Given the description of an element on the screen output the (x, y) to click on. 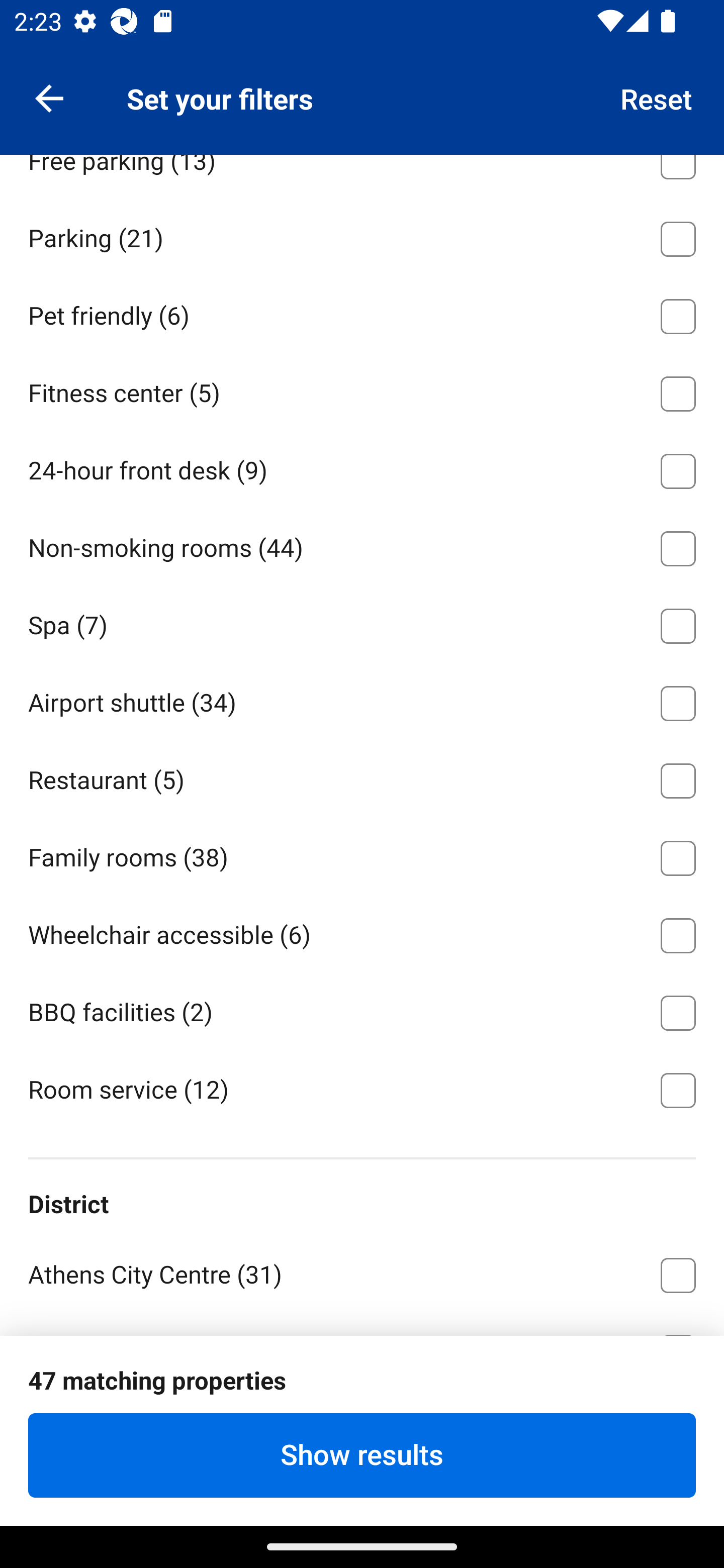
Swimming pool ⁦(3) (361, 80)
Navigate up (49, 97)
Reset (656, 97)
Free parking ⁦(13) (361, 176)
Parking ⁦(21) (361, 235)
Pet friendly ⁦(6) (361, 312)
Fitness center ⁦(5) (361, 390)
24-hour front desk ⁦(9) (361, 467)
Non-smoking rooms ⁦(44) (361, 544)
Spa ⁦(7) (361, 622)
Airport shuttle ⁦(34) (361, 699)
Restaurant ⁦(5) (361, 777)
Family rooms ⁦(38) (361, 854)
Wheelchair accessible ⁦(6) (361, 931)
BBQ facilities ⁦(2) (361, 1009)
Room service ⁦(12) (361, 1088)
Athens City Centre ⁦(31) (361, 1272)
Show results (361, 1454)
